Given the description of an element on the screen output the (x, y) to click on. 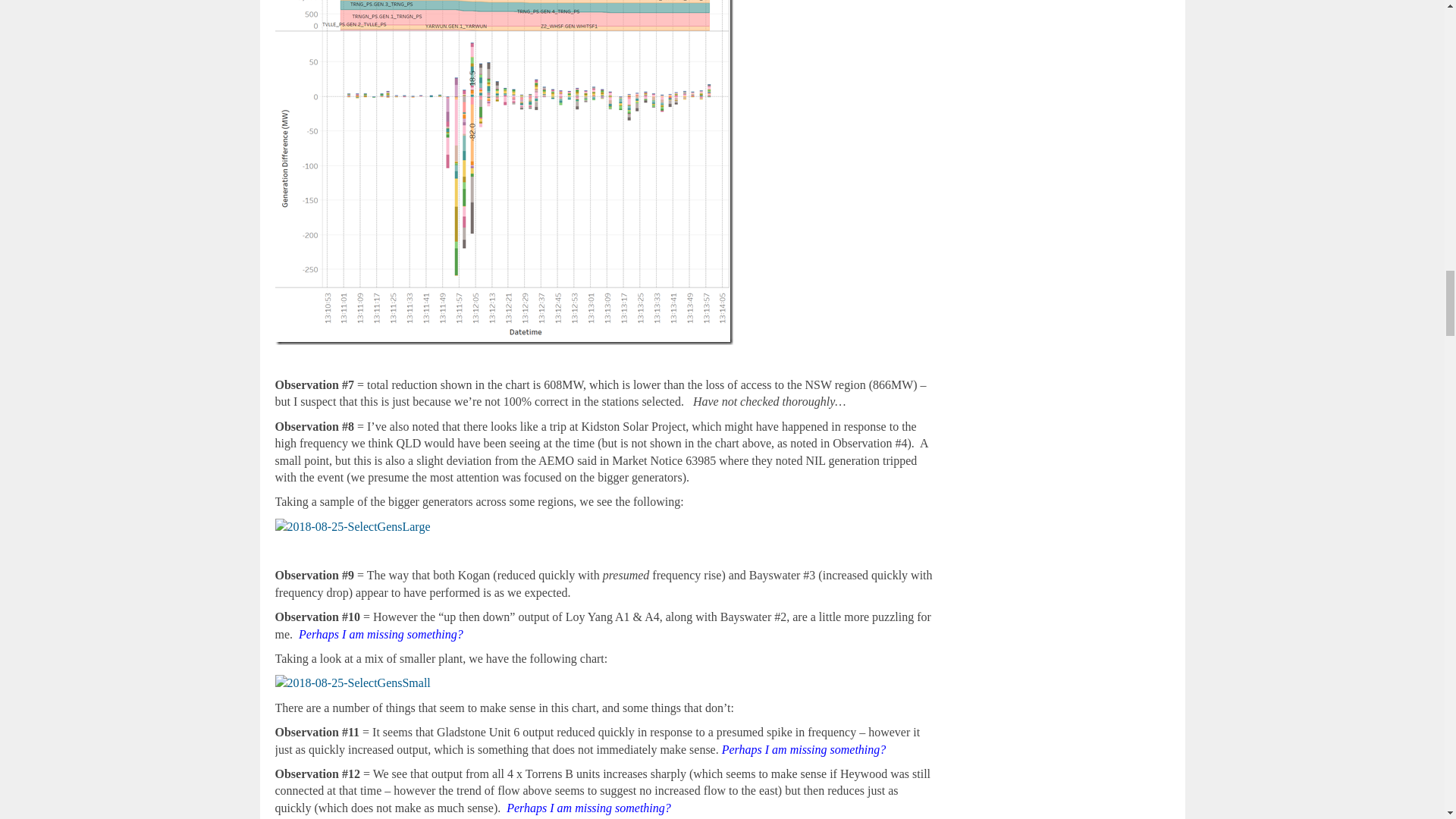
2018-08-25-SelectGensLarge (352, 526)
2018-08-25-SelectGensSmall (352, 682)
